Given the description of an element on the screen output the (x, y) to click on. 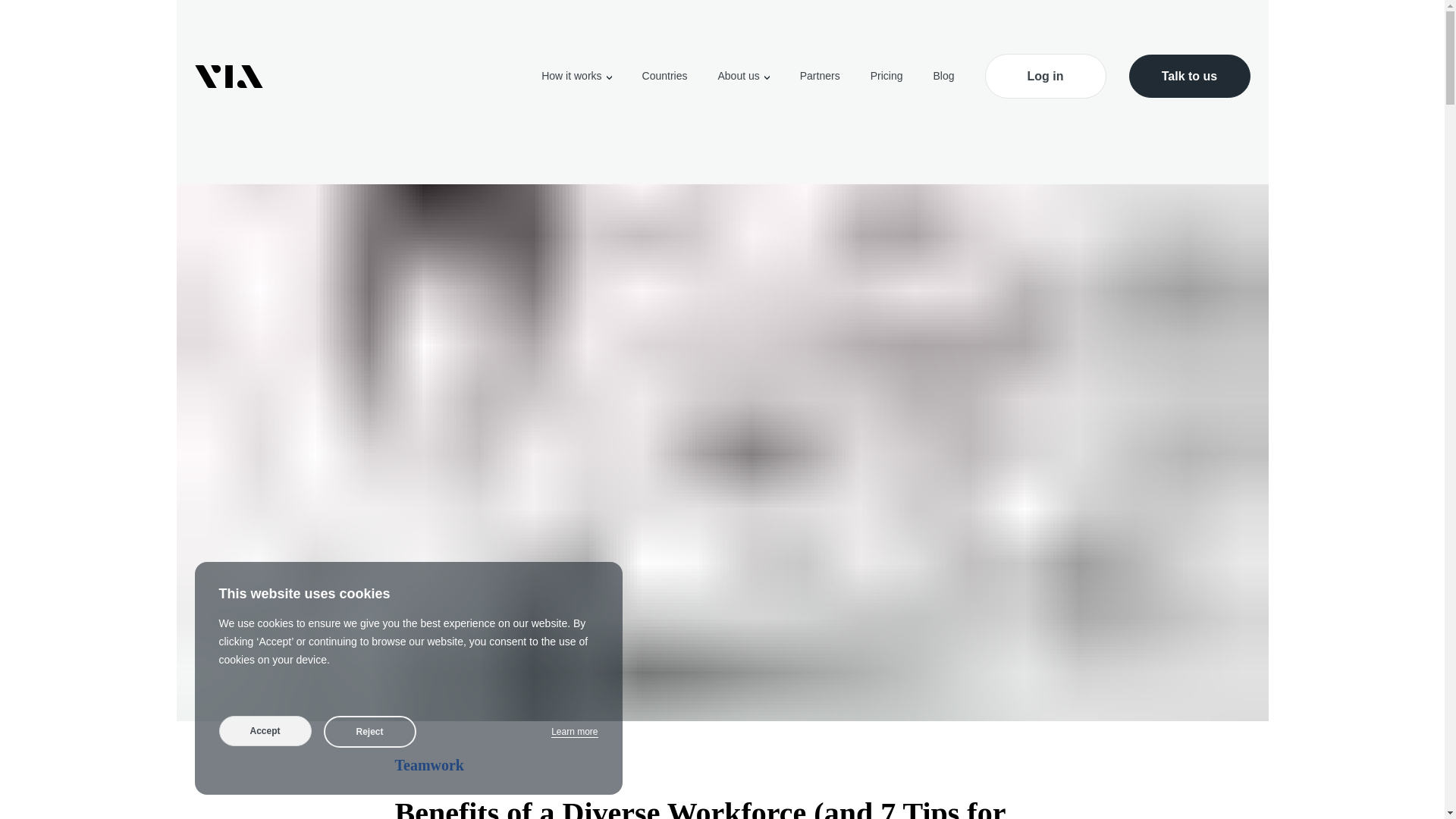
Learn more (573, 731)
Countries (664, 75)
Talk to us (1188, 75)
Blog (943, 75)
Accept (264, 730)
Log in (1044, 76)
Partners (819, 75)
Pricing (886, 75)
Reject (368, 731)
